Given the description of an element on the screen output the (x, y) to click on. 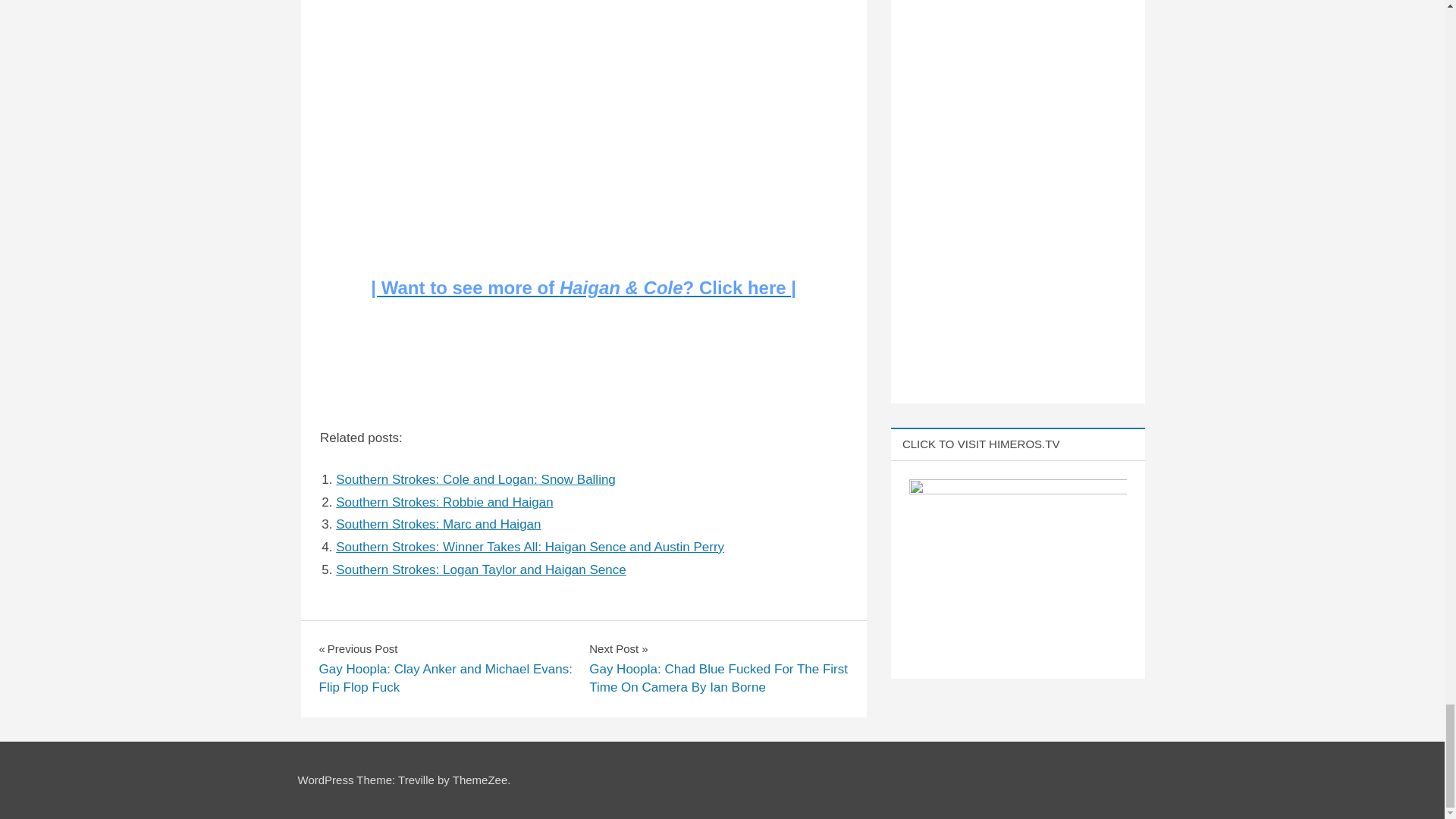
Southern Strokes: Cole and Logan: Snow Balling (475, 479)
Southern Strokes: Haigan and Cole (530, 128)
Southern Strokes: Logan Taylor and Haigan Sence (481, 569)
Southern Strokes: Robbie and Haigan (444, 502)
Southern Strokes: Marc and Haigan (438, 523)
SOUTH'N STROKES (354, 644)
ANAL SEX (337, 632)
